Given the description of an element on the screen output the (x, y) to click on. 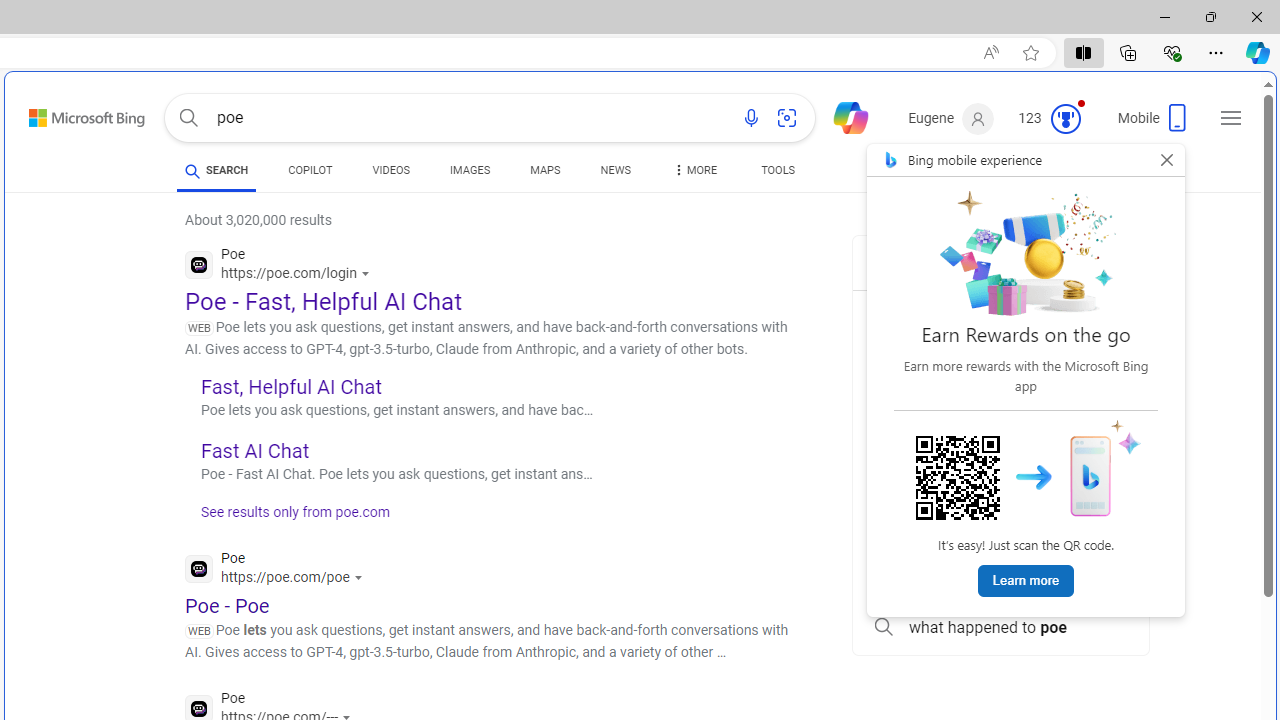
Poe (278, 569)
poe pc (1000, 492)
Chat (842, 116)
Poe - Poe (227, 605)
poes meaning (1000, 358)
Skip to content (65, 111)
COPILOT (310, 170)
NEWS (614, 173)
TOOLS (777, 173)
Search using voice (751, 117)
